Given the description of an element on the screen output the (x, y) to click on. 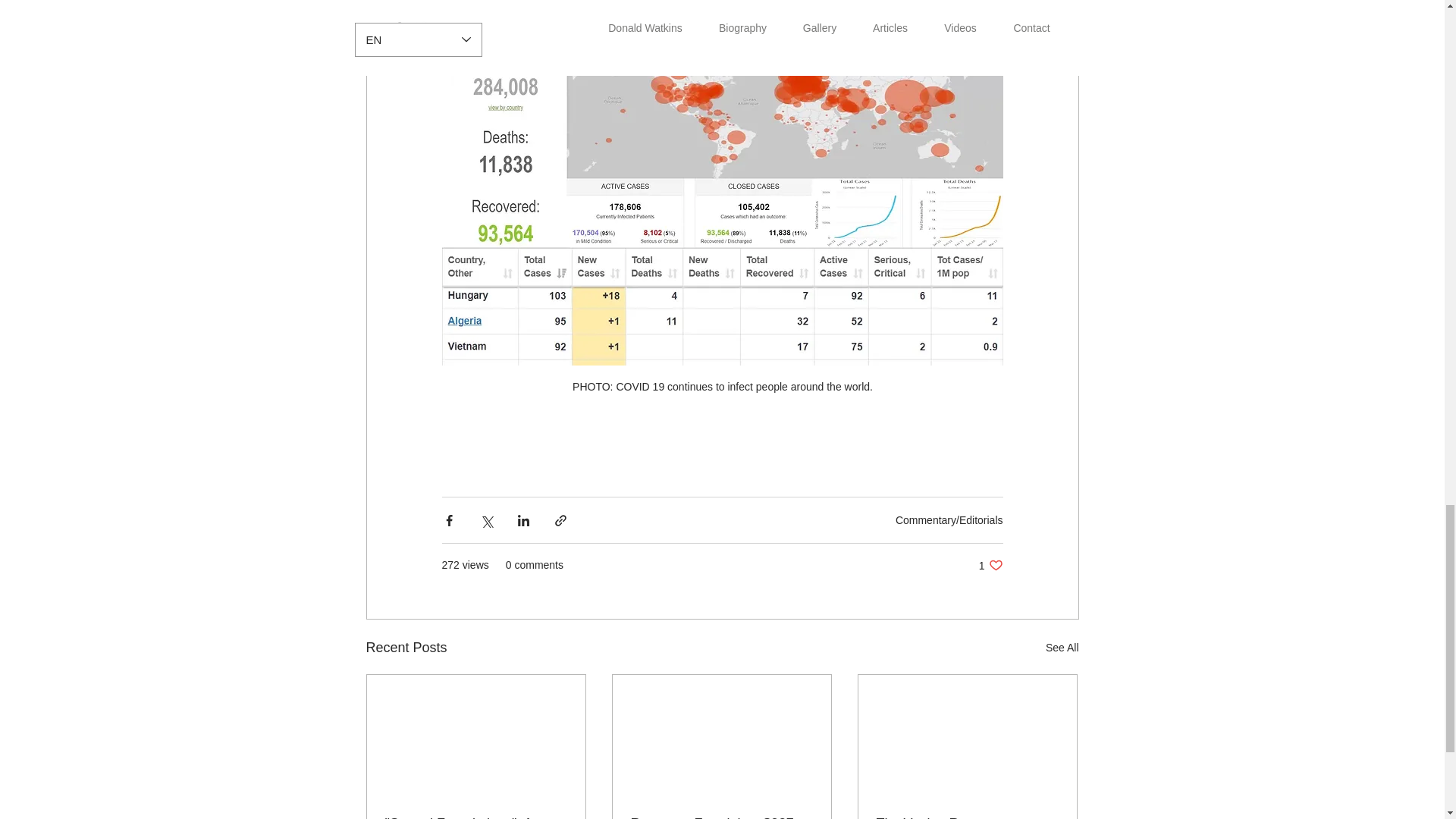
See All (1061, 648)
